Given the description of an element on the screen output the (x, y) to click on. 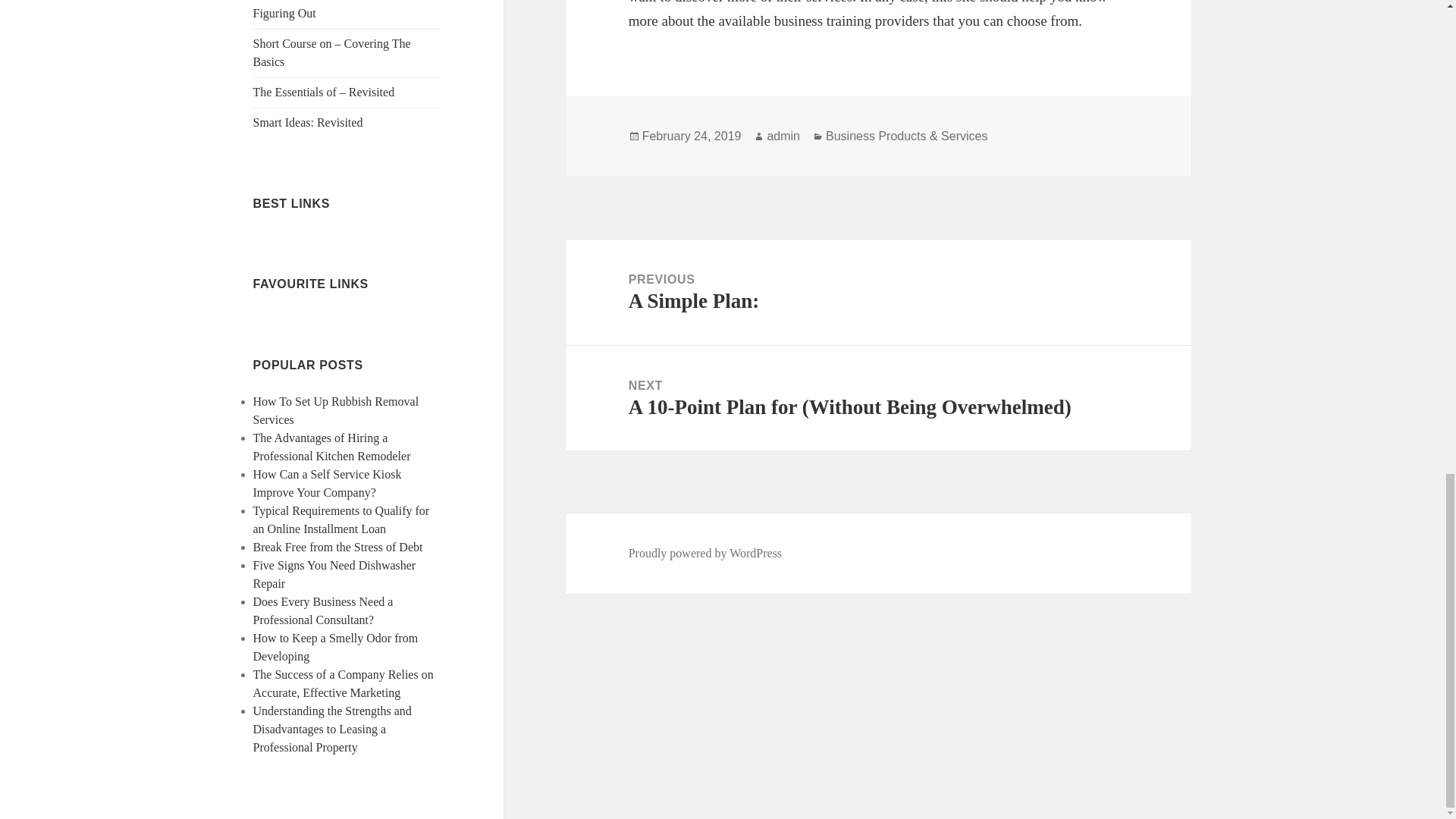
The Advantages of Hiring a Professional Kitchen Remodeler (331, 446)
How To Set Up Rubbish Removal Services (336, 409)
How To Set Up Rubbish Removal Services (336, 409)
How to Keep a Smelly Odor from Developing (336, 646)
Smart Ideas: Revisited (307, 122)
Five Signs You Need Dishwasher Repair (334, 573)
Does Every Business Need a Professional Consultant? (323, 610)
